Given the description of an element on the screen output the (x, y) to click on. 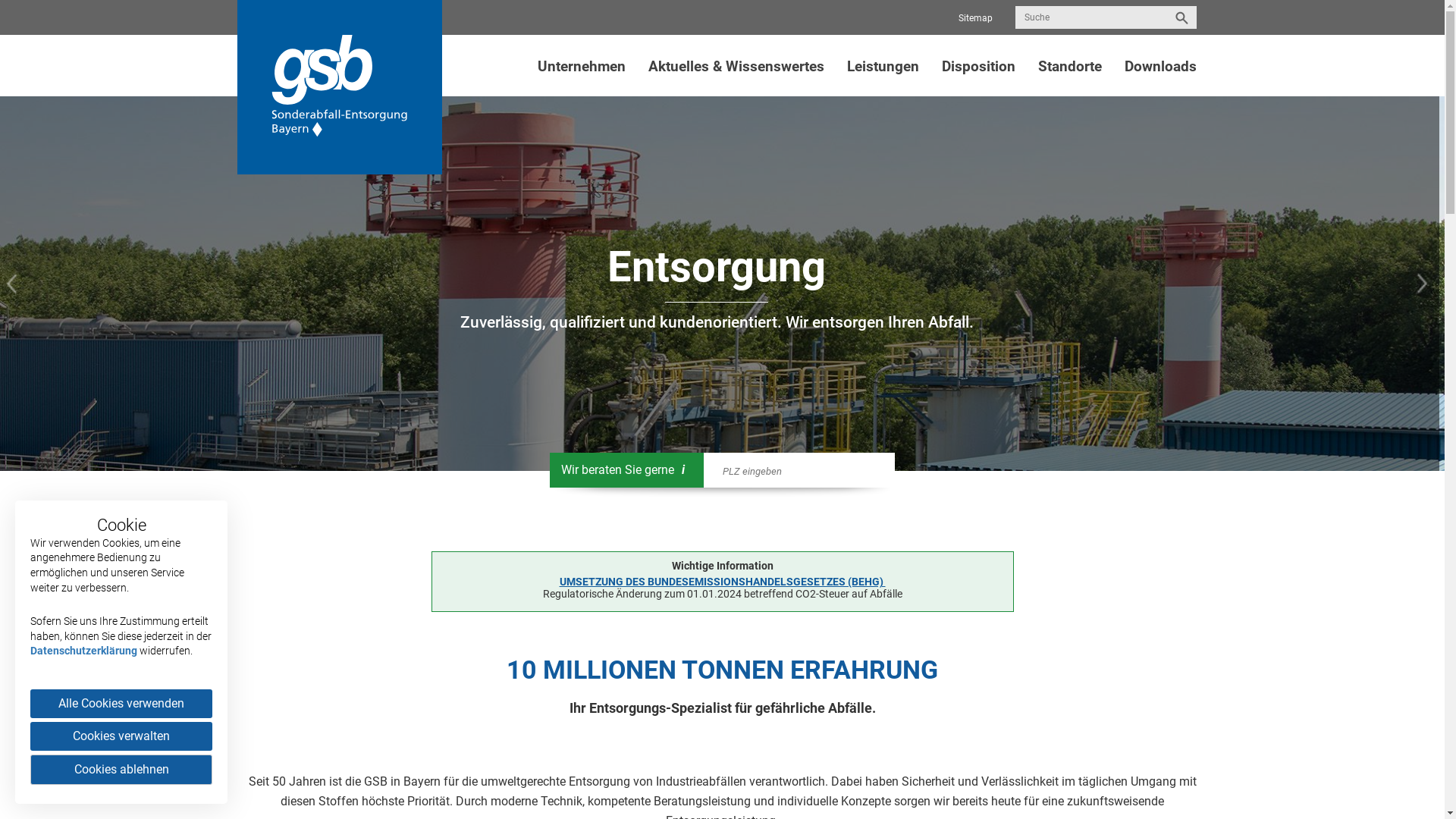
Unternehmen Element type: text (581, 66)
Leistungen Element type: text (882, 66)
Disposition Element type: text (977, 66)
Cookies ablehnen Element type: text (121, 769)
Standorte Element type: text (1069, 66)
Cookies verwalten Element type: text (121, 735)
Downloads Element type: text (1160, 66)
Sitemap Element type: text (975, 17)
Alle Cookies verwenden Element type: text (121, 703)
UMSETZUNG DES BUNDESEMISSIONSHANDELSGESETZES (BEHG)  Element type: text (722, 581)
Aktuelles & Wissenswertes Element type: text (736, 66)
